Given the description of an element on the screen output the (x, y) to click on. 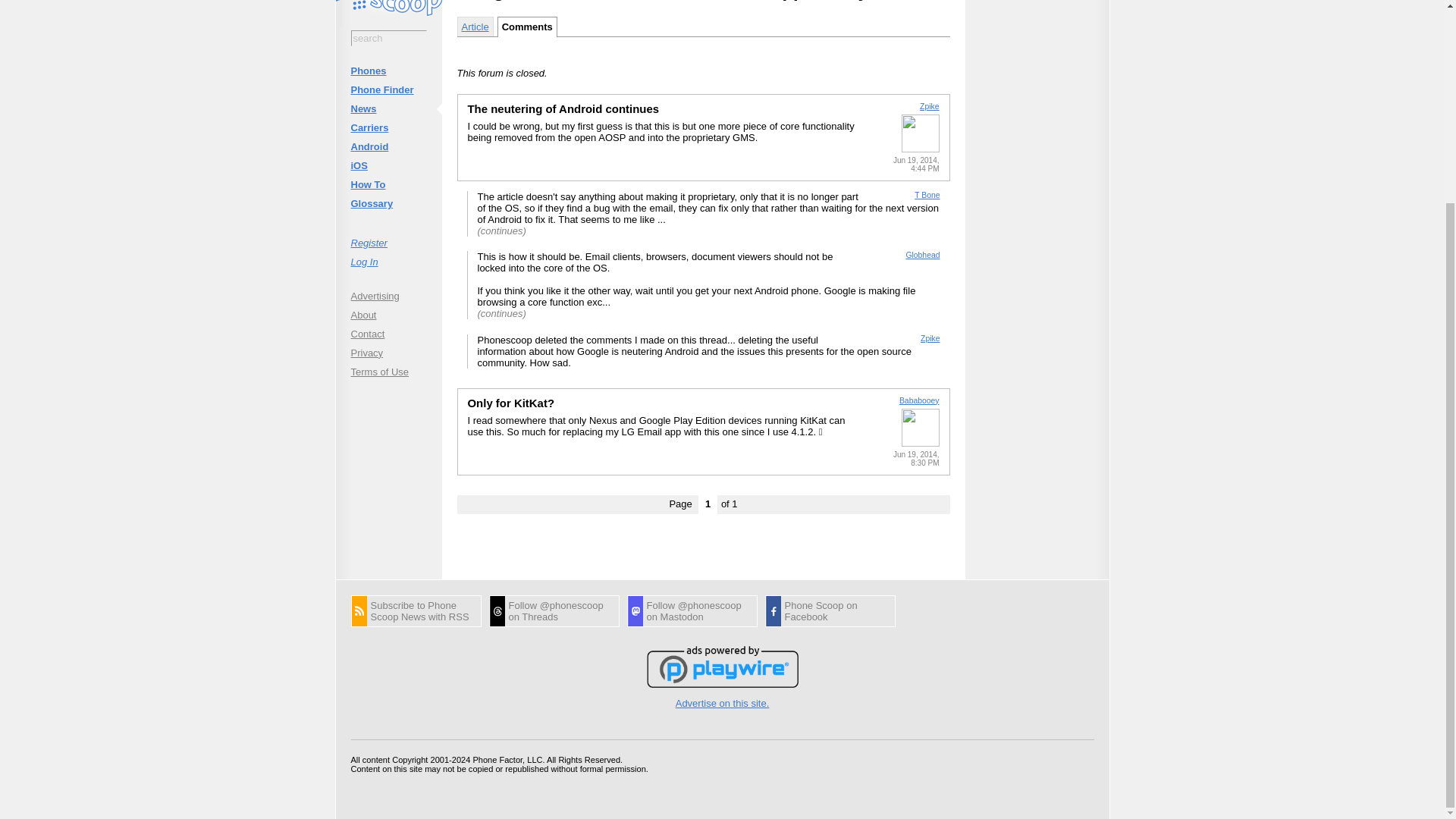
Zpike (929, 338)
Phones (387, 70)
Bababooey (919, 400)
Terms of Use (387, 371)
Article (475, 26)
Advertising (387, 295)
Phone Finder (387, 89)
Privacy (387, 352)
Phone Scoop: News (415, 611)
Android (387, 146)
Globhead (922, 254)
iOS (387, 165)
Subscribe to Phone Scoop News with RSS (415, 611)
Log In (387, 261)
About (387, 313)
